Given the description of an element on the screen output the (x, y) to click on. 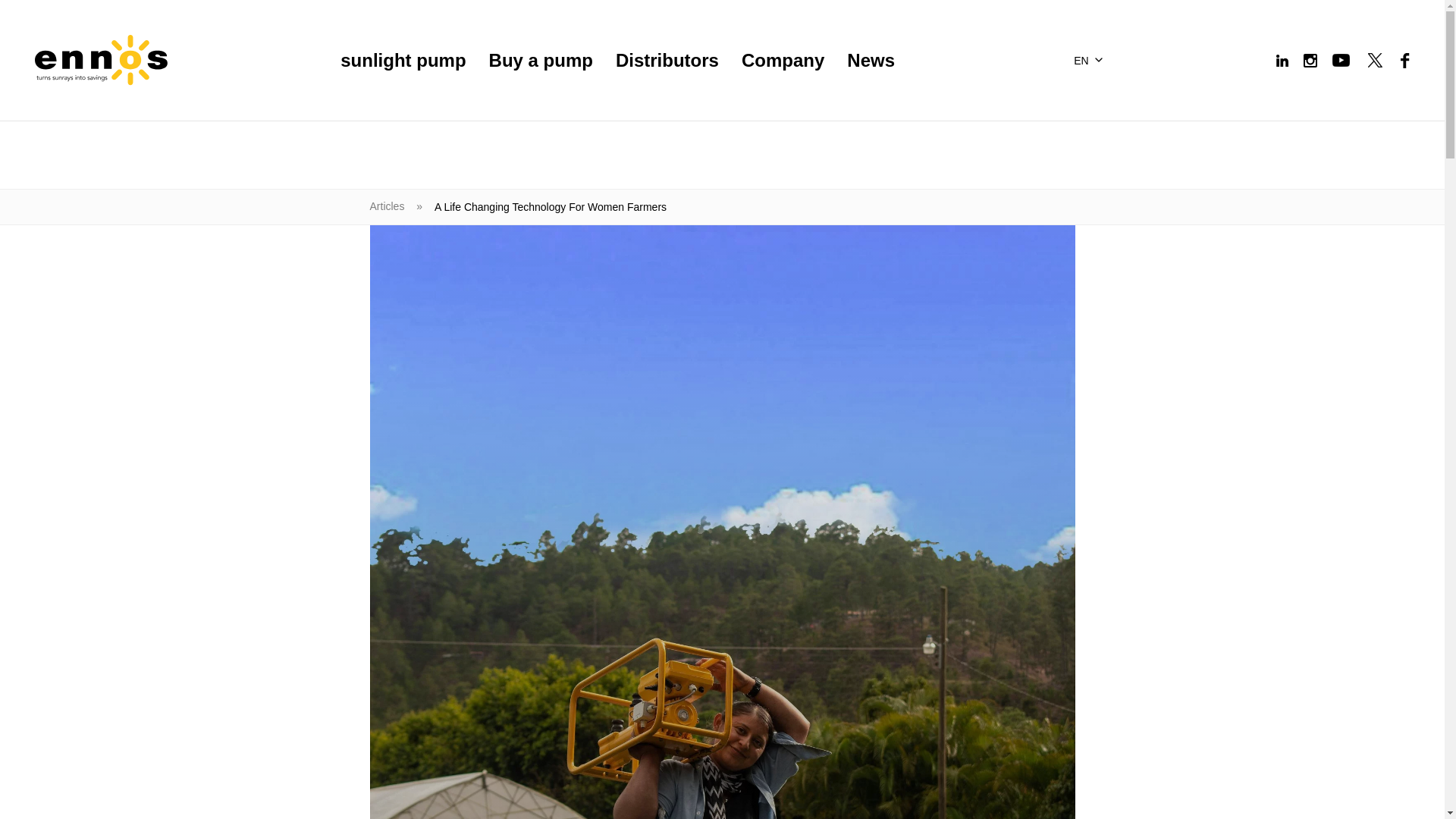
News (871, 60)
Company (782, 60)
sunlight pump (402, 60)
Distributors (667, 60)
Buy a pump (540, 60)
EN (1090, 60)
